Given the description of an element on the screen output the (x, y) to click on. 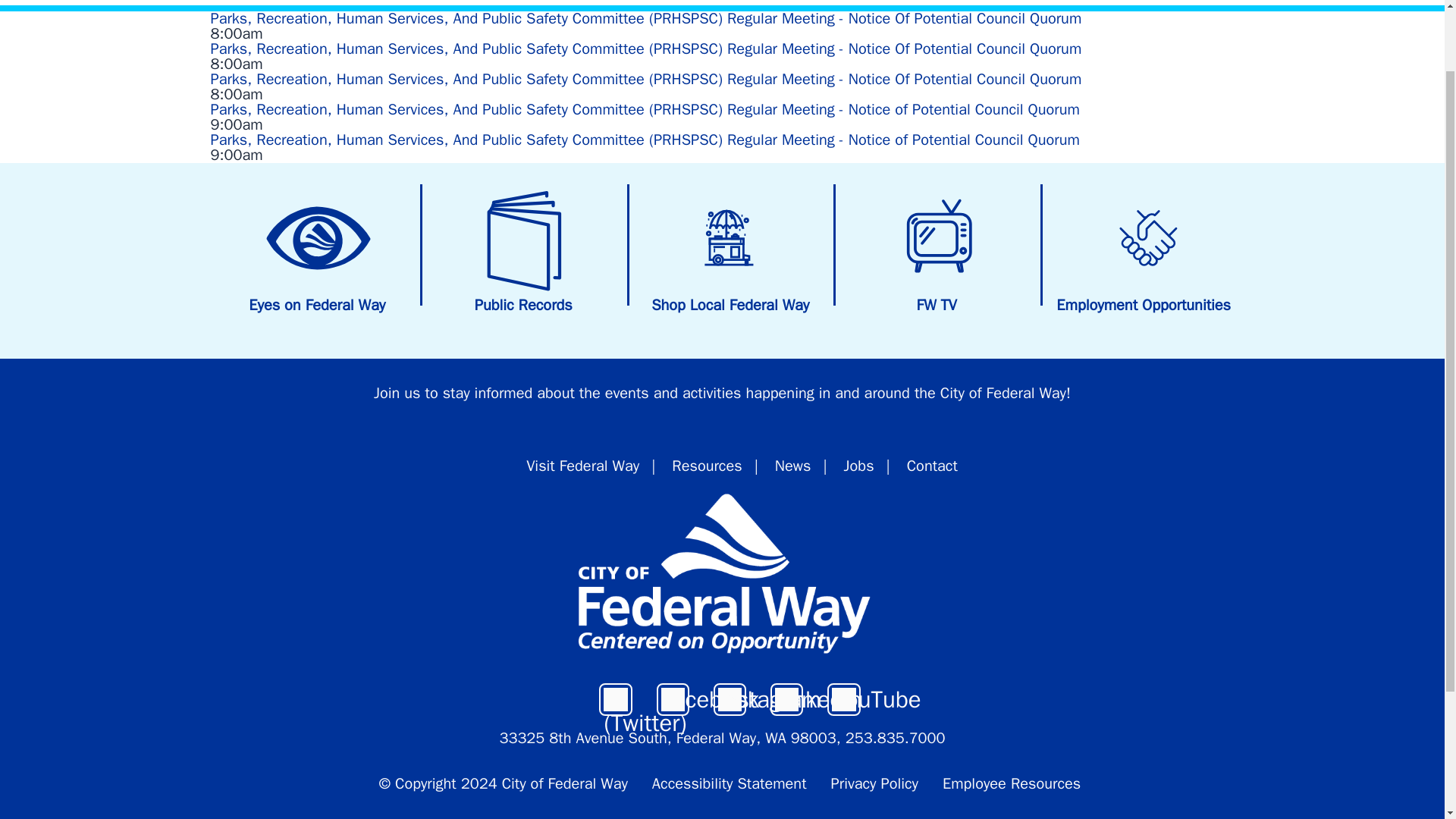
Website Privacy Policy (874, 783)
Website Accessibility Statement (729, 783)
E-Newsletter Sign-up (397, 393)
